Given the description of an element on the screen output the (x, y) to click on. 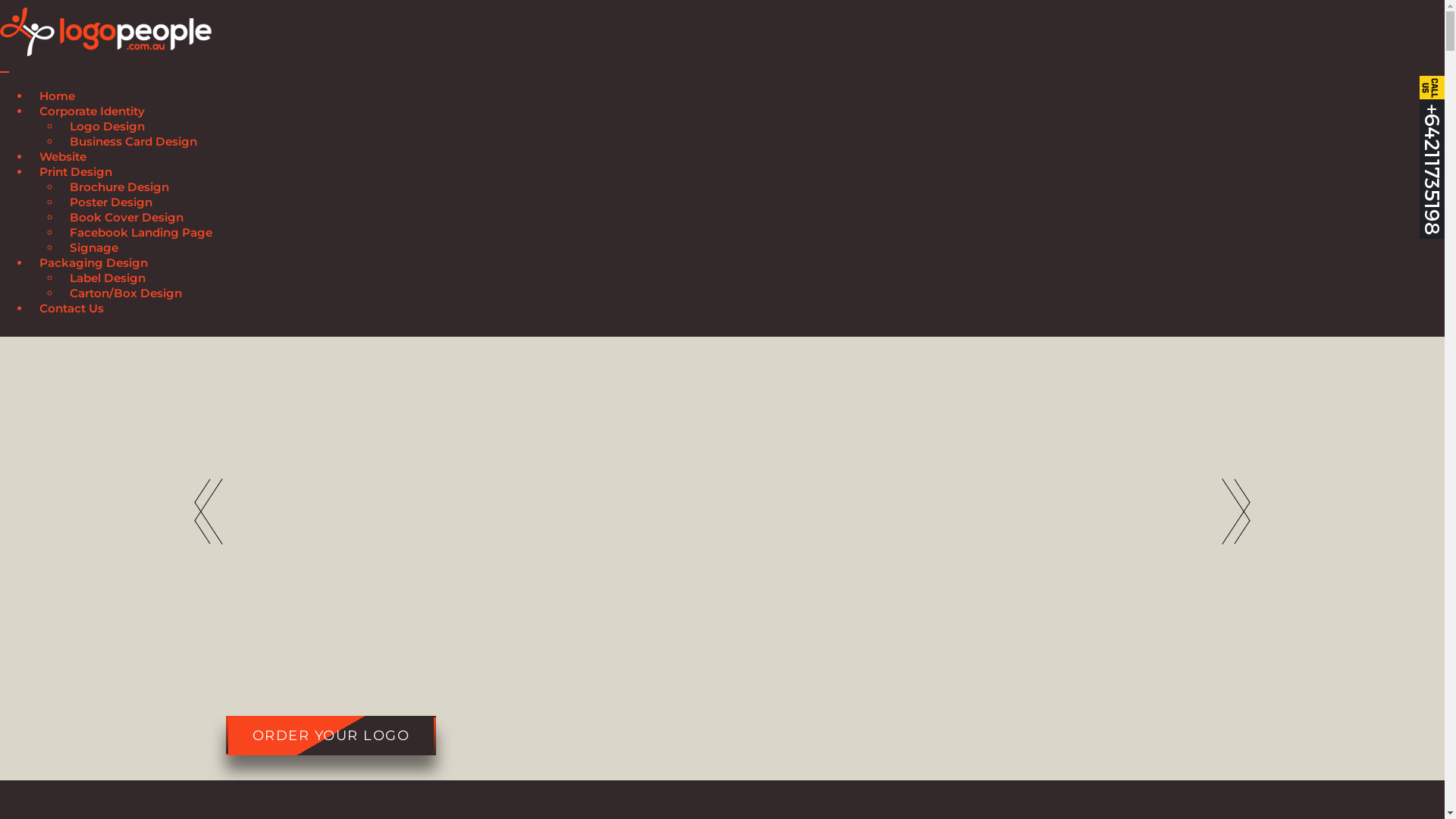
Poster Design Element type: text (110, 203)
Print Design Element type: text (75, 173)
Packaging Design Element type: text (93, 264)
Signage Element type: text (93, 249)
Home Element type: text (57, 97)
Logo Design Element type: text (106, 128)
Brochure Design Element type: text (119, 188)
Website Element type: text (62, 158)
Contact Us Element type: text (71, 310)
ORDER YOUR LOGO Element type: text (330, 735)
Corporate Identity Element type: text (91, 112)
Label Design Element type: text (107, 279)
Business Card Design Element type: text (133, 143)
Facebook Landing Page Element type: text (140, 234)
Carton/Box Design Element type: text (125, 294)
Book Cover Design Element type: text (126, 219)
